Given the description of an element on the screen output the (x, y) to click on. 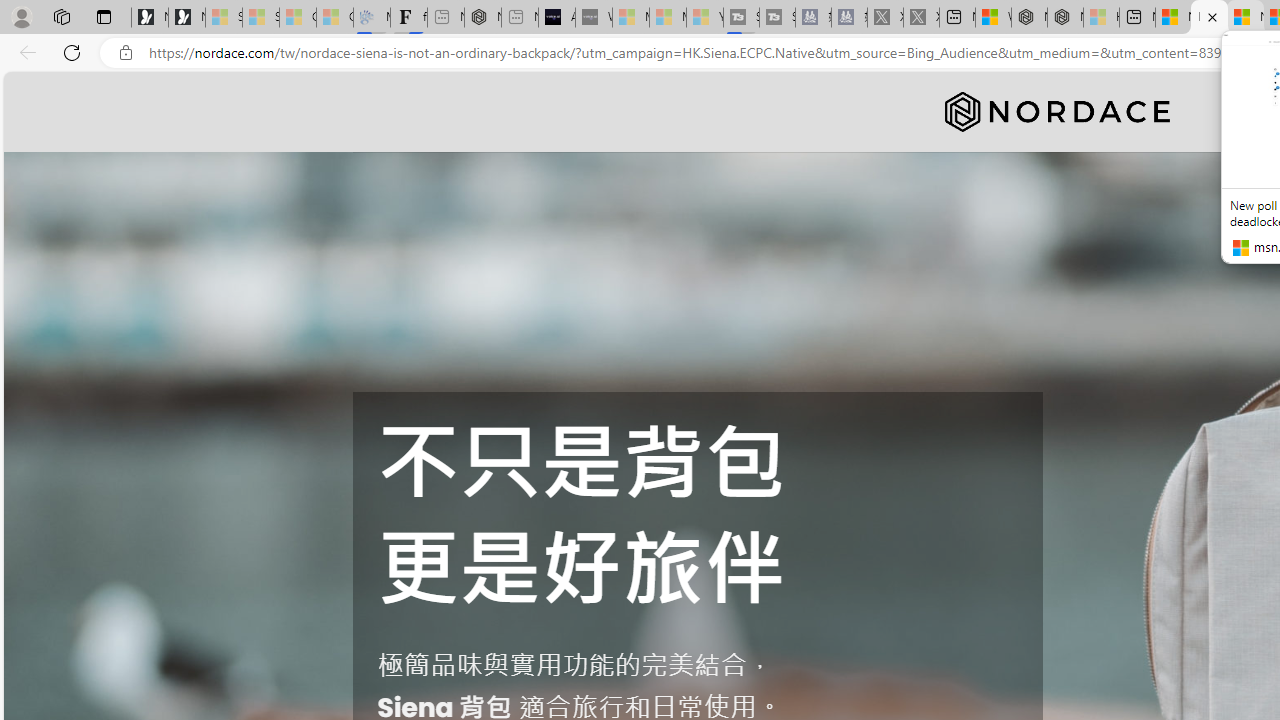
AI Voice Changer for PC and Mac - Voice.ai (556, 17)
